Given the description of an element on the screen output the (x, y) to click on. 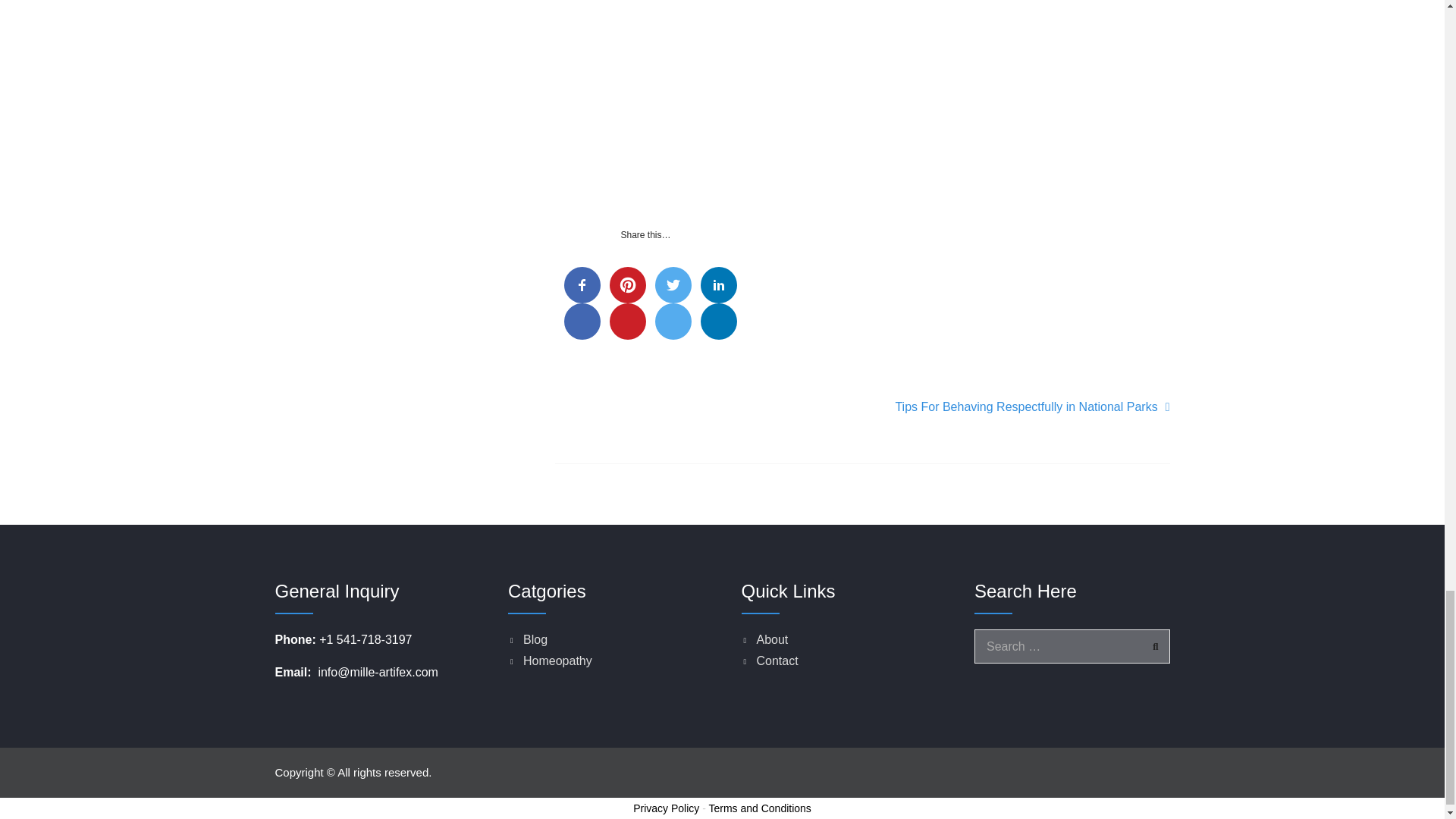
Blog (534, 639)
Tips For Behaving Respectfully in National Parks (1032, 406)
Homeopathy (557, 660)
